Given the description of an element on the screen output the (x, y) to click on. 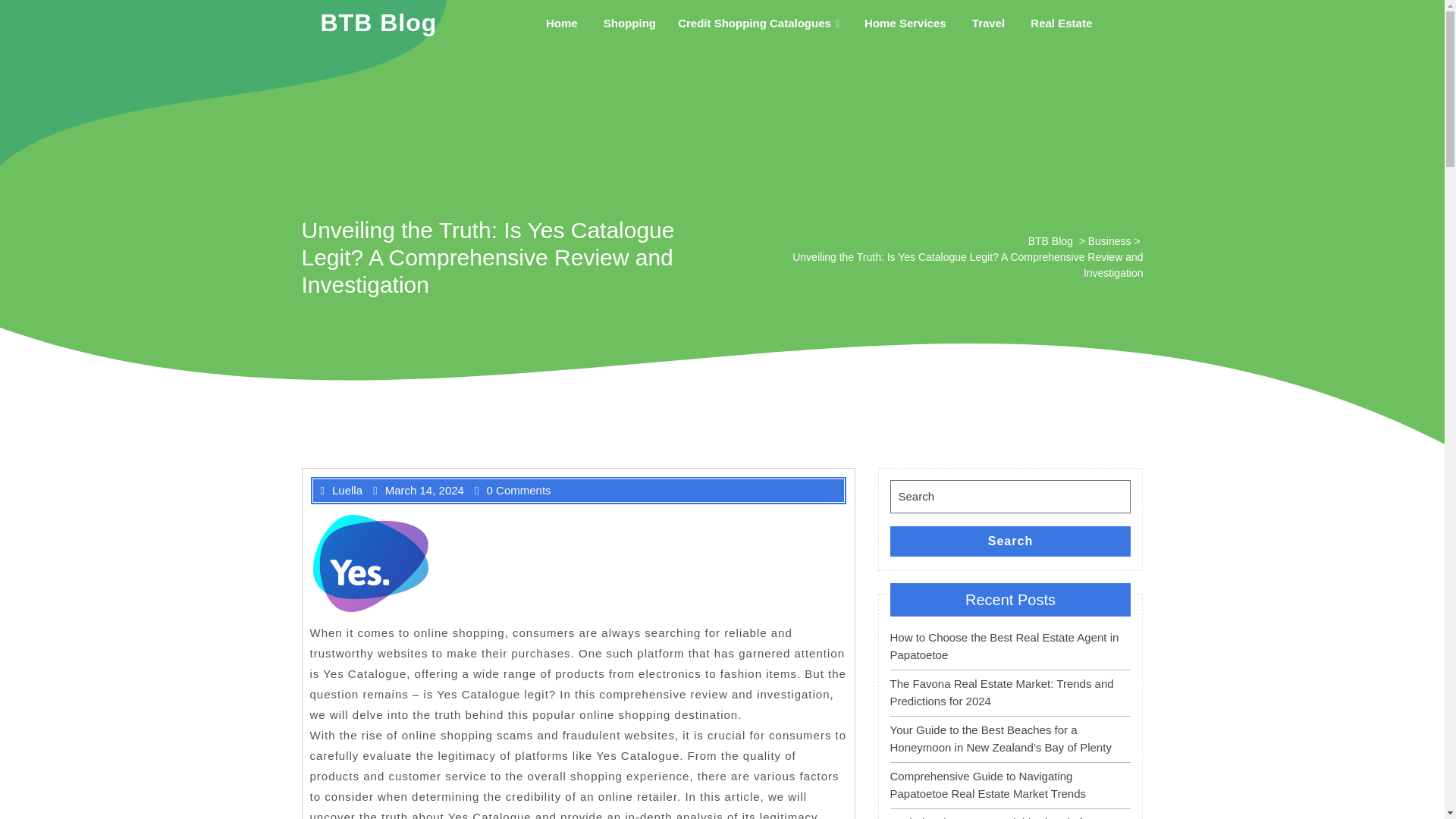
Business (1109, 241)
Home (561, 23)
BTB Blog (1050, 241)
Credit Shopping Catalogues (759, 23)
How to Choose the Best Real Estate Agent in Papatoetoe (1004, 645)
Search (1010, 541)
Shopping (629, 23)
